Given the description of an element on the screen output the (x, y) to click on. 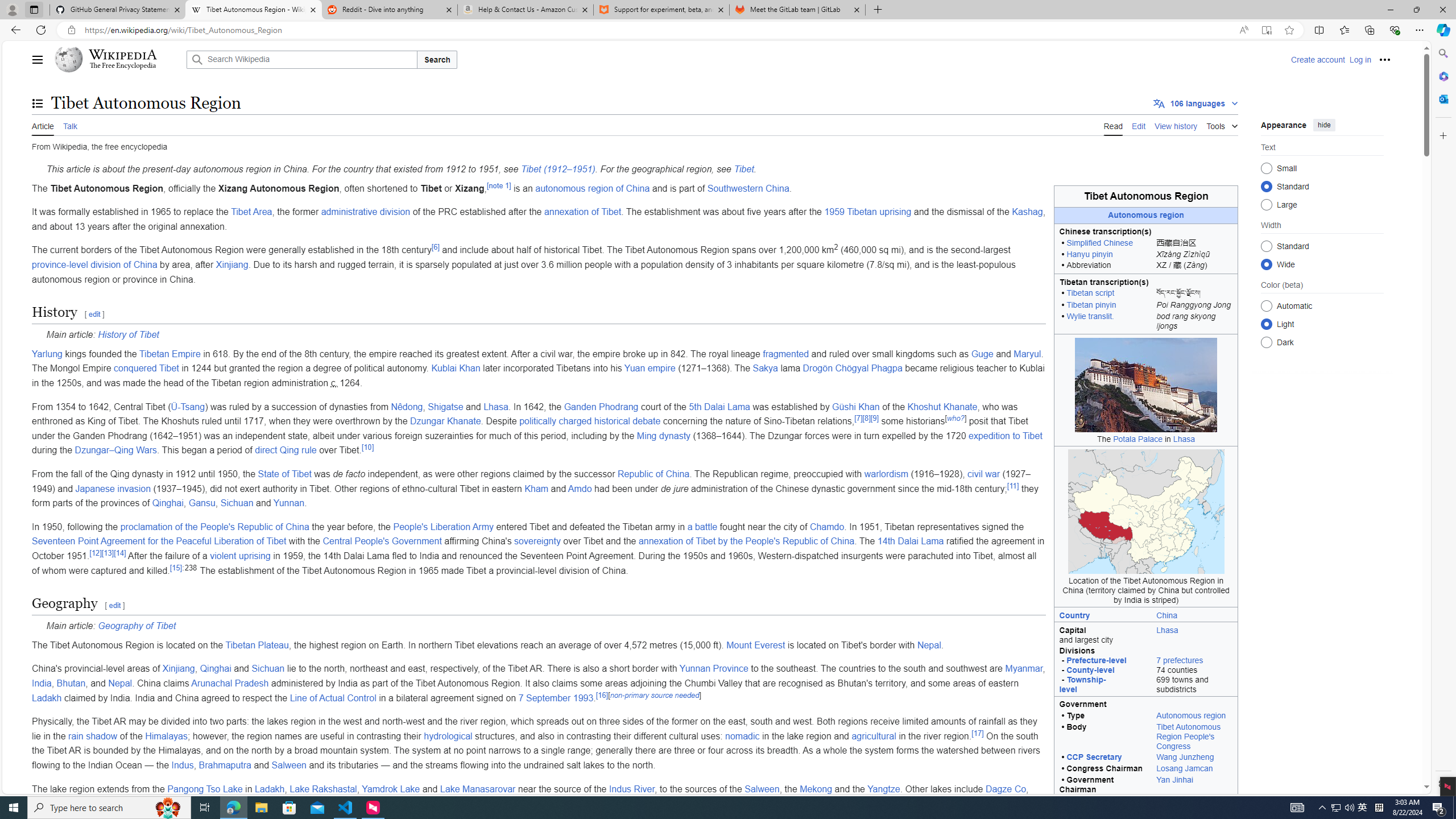
Bhutan (70, 683)
14th Dalai Lama (909, 541)
Losang Jamcan (1194, 769)
annexation of Tibet by the People's Republic of China (745, 541)
Pangong Tso Lake (205, 788)
fragmented (785, 353)
Xinjiang (178, 668)
 7 prefectures 74 counties 699 towns and subdistricts (1194, 671)
Lake Rakshastal (322, 788)
[note 1] (498, 185)
